Given the description of an element on the screen output the (x, y) to click on. 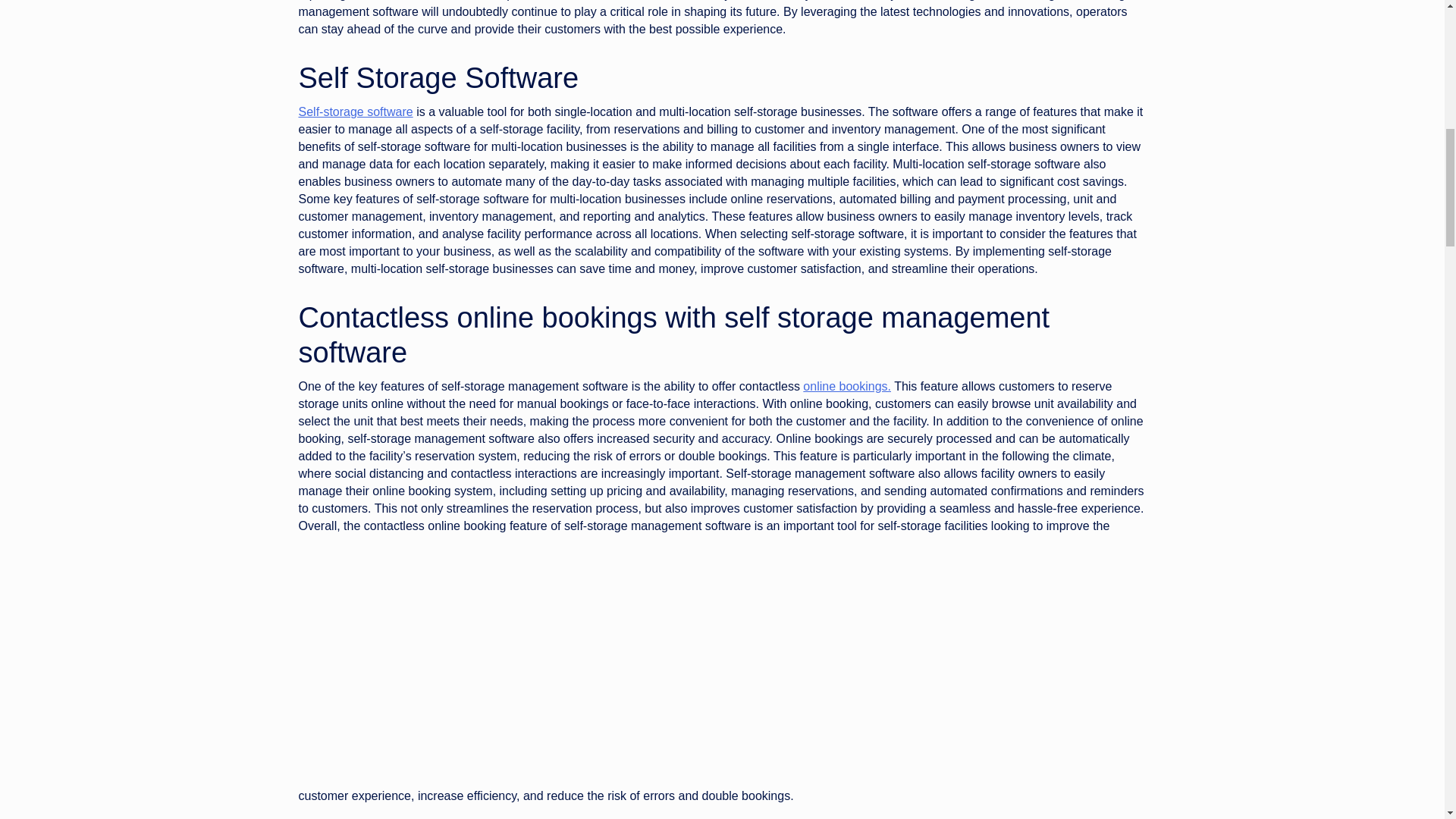
Self-storage software (355, 111)
online bookings. (847, 386)
